Given the description of an element on the screen output the (x, y) to click on. 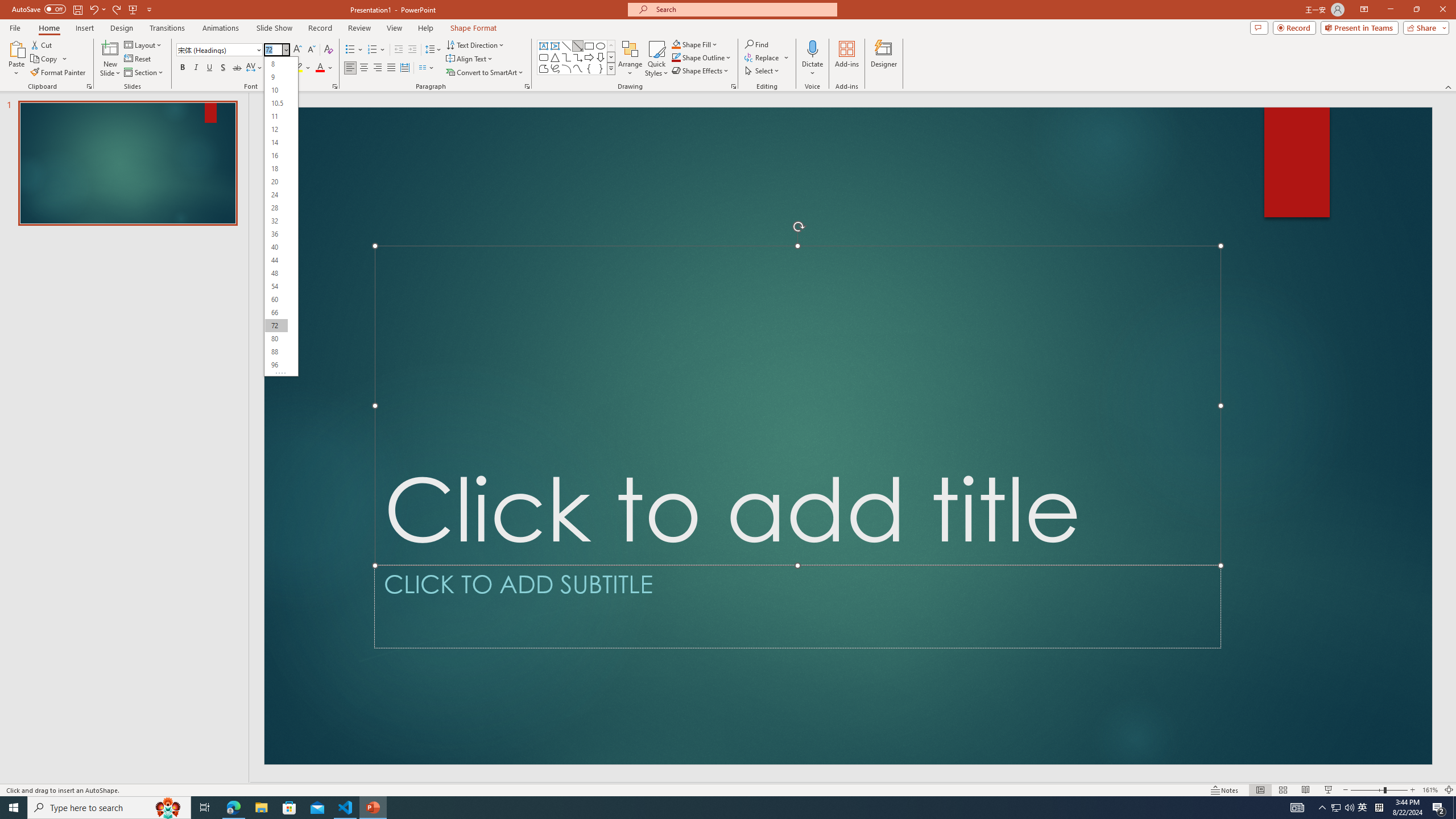
11 (276, 115)
20 (276, 181)
10 (276, 89)
48 (276, 273)
54 (276, 286)
